Given the description of an element on the screen output the (x, y) to click on. 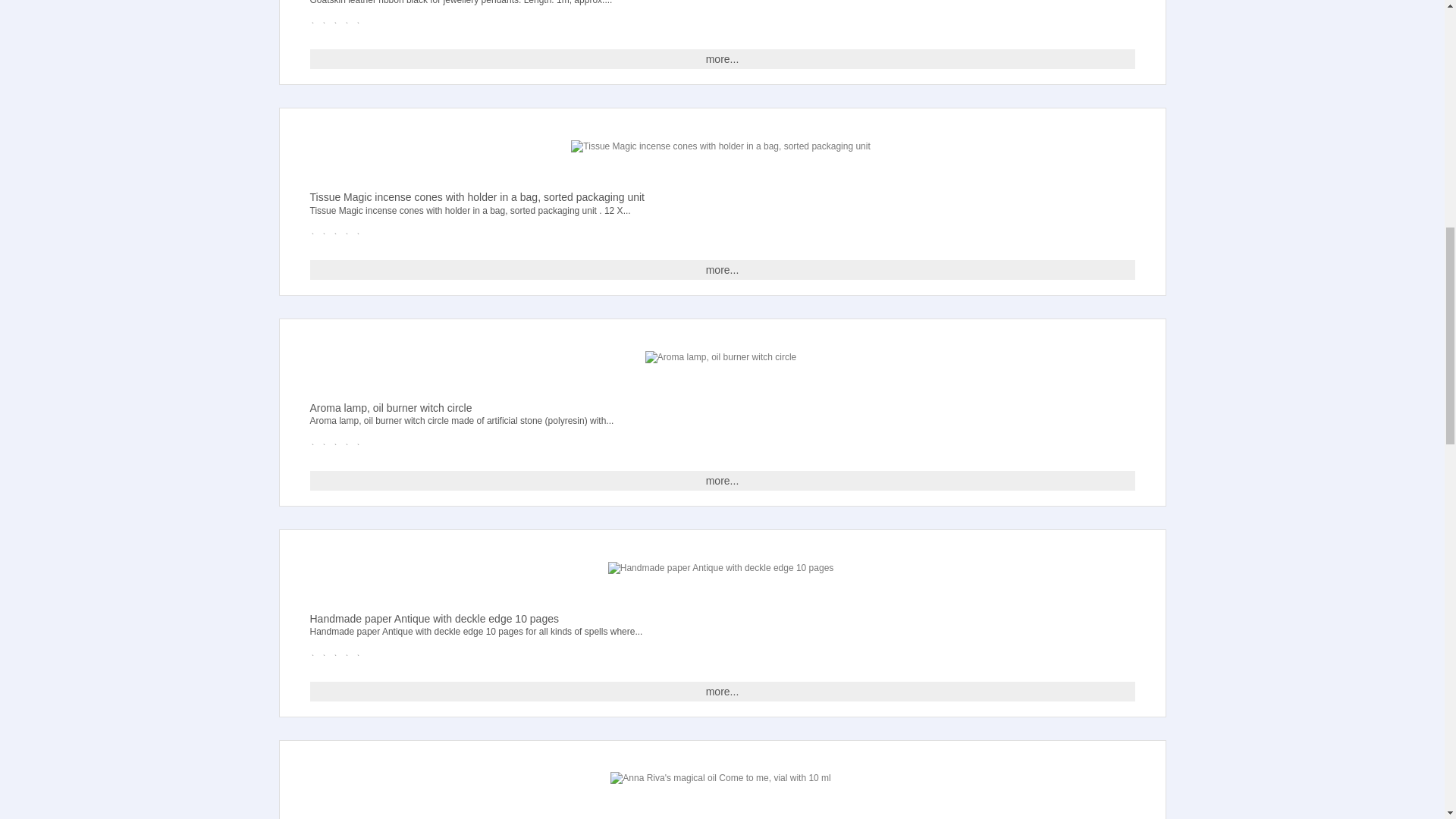
Aroma lamp, oil burner witch circle (720, 357)
Handmade paper Antique with deckle edge 10 pages (721, 567)
Anna Riva's magical oil Come to me, vial with 10 ml (719, 778)
